Given the description of an element on the screen output the (x, y) to click on. 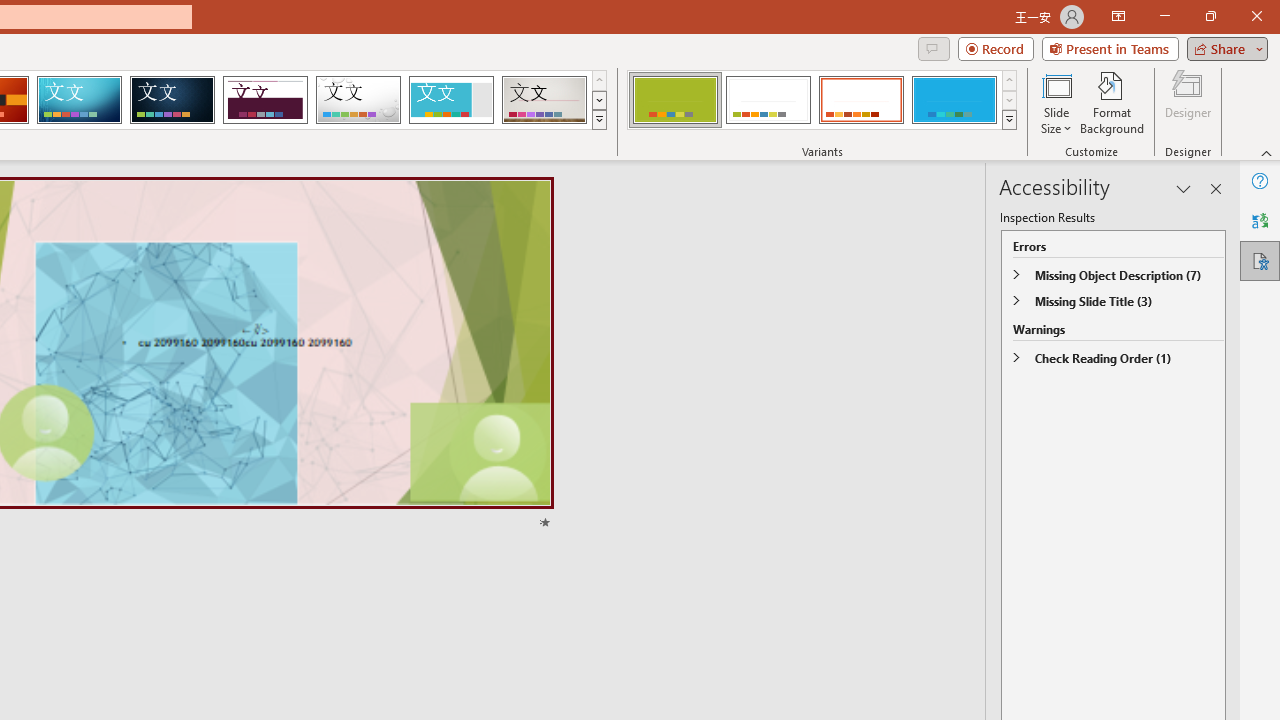
Basis Variant 2 (768, 100)
Themes (598, 120)
Frame (450, 100)
Format Background (1111, 102)
Basis Variant 1 (674, 100)
Circuit (79, 100)
